Given the description of an element on the screen output the (x, y) to click on. 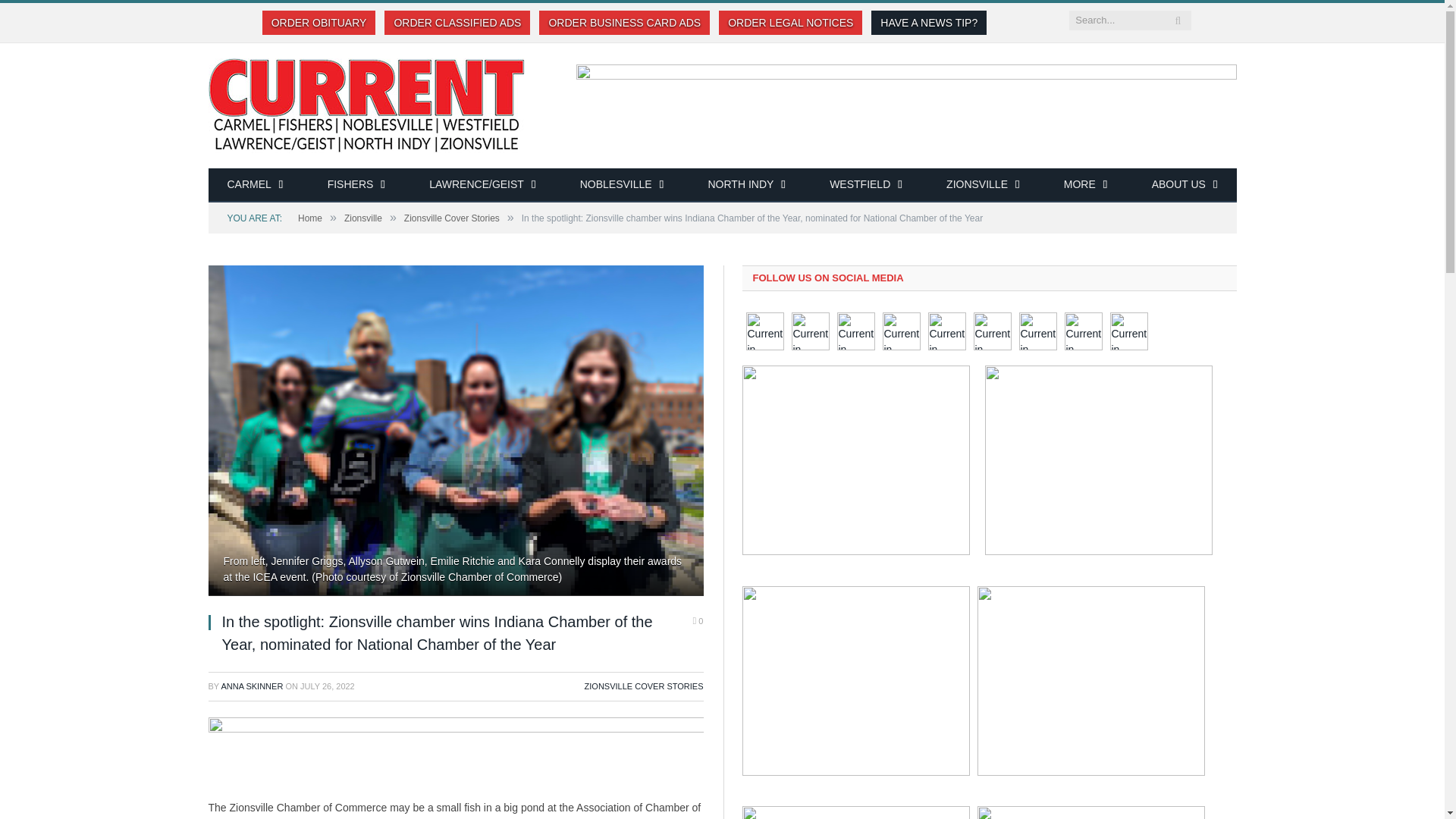
ORDER OBITUARY (318, 22)
ORDER CLASSIFIED ADS (456, 22)
2022-07-26 (327, 686)
Current in Fishers Facebook (810, 331)
Posts by Anna Skinner (251, 686)
Current in Zionsville Facebook (992, 331)
HAVE A NEWS TIP? (928, 22)
Current in Carmel Twitter (1128, 331)
NORTH INDY (745, 185)
